Given the description of an element on the screen output the (x, y) to click on. 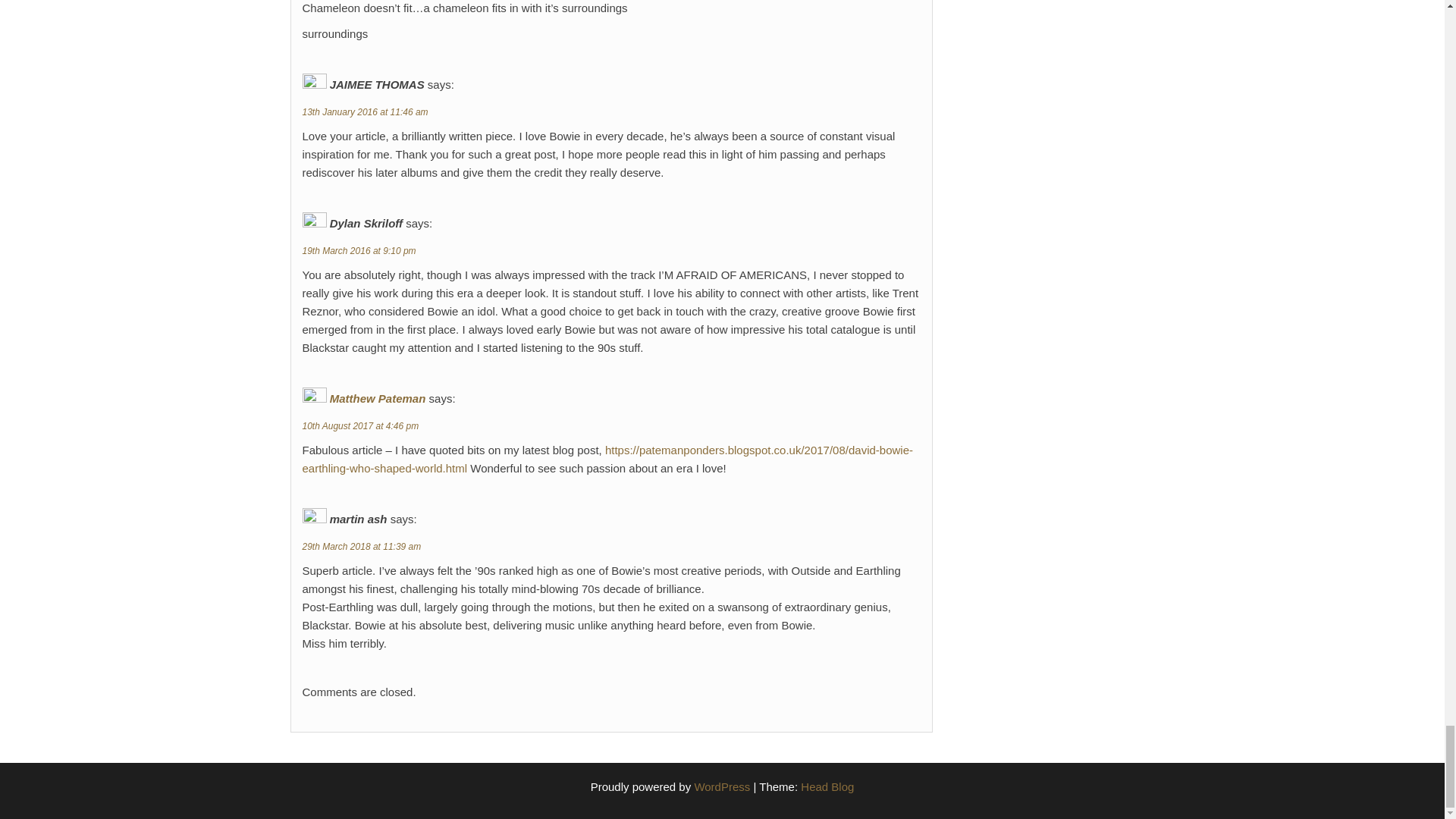
19th March 2016 at 9:10 pm (357, 250)
13th January 2016 at 11:46 am (364, 112)
Matthew Pateman (378, 398)
10th August 2017 at 4:46 pm (360, 425)
29th March 2018 at 11:39 am (360, 546)
